Given the description of an element on the screen output the (x, y) to click on. 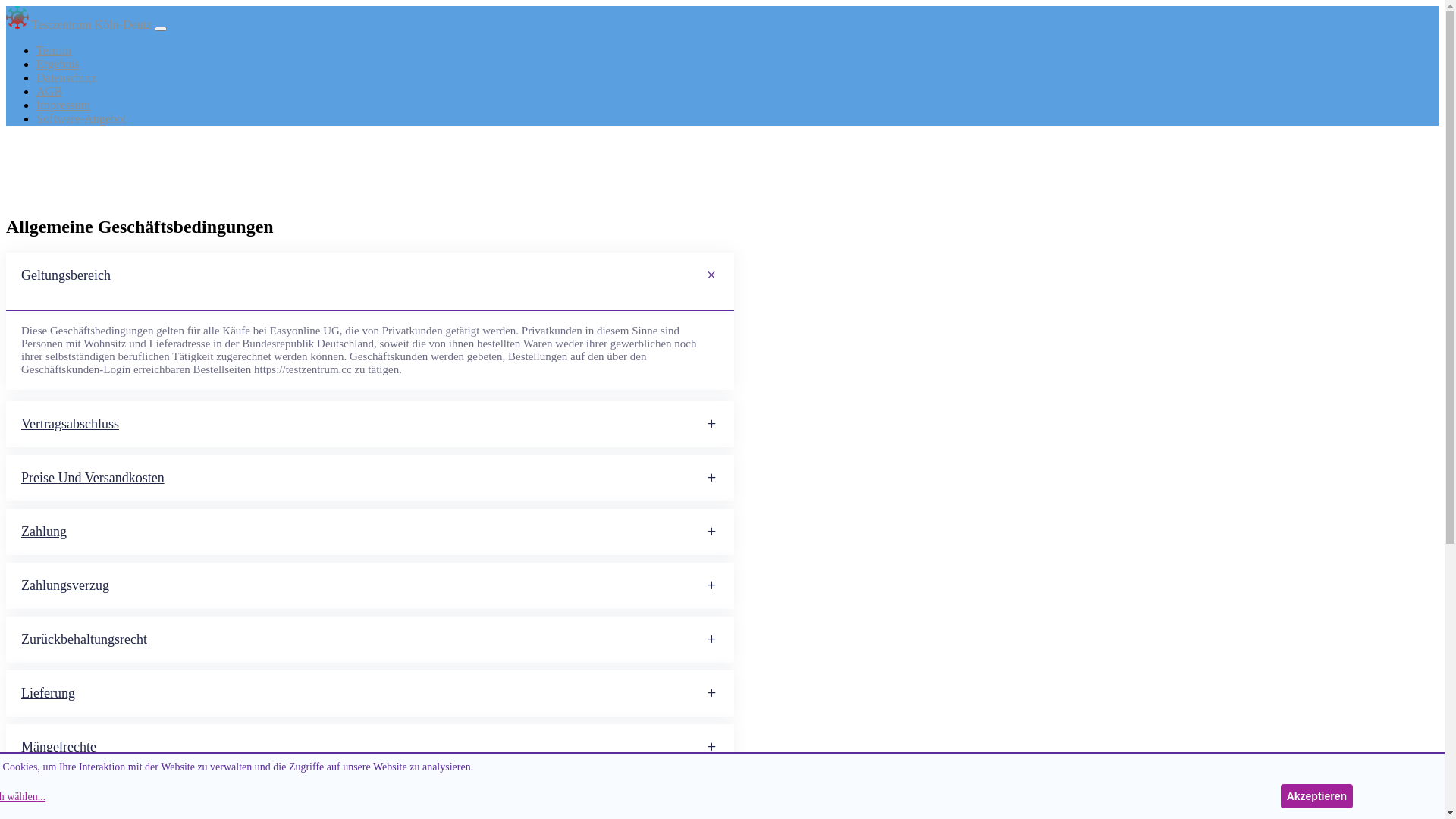
Termin Element type: text (53, 49)
AGB Element type: text (49, 90)
Zahlung Element type: text (370, 531)
Zahlungsverzug Element type: text (370, 585)
Vertragsabschluss Element type: text (370, 424)
Akzeptieren Element type: text (1316, 796)
Preise Und Versandkosten Element type: text (370, 478)
Ergebnis Element type: text (57, 63)
Impressum Element type: text (63, 104)
Datenschutz Element type: text (66, 77)
Software-Angebot Element type: text (80, 118)
Lieferung Element type: text (370, 693)
Geltungsbereich Element type: text (370, 275)
